Given the description of an element on the screen output the (x, y) to click on. 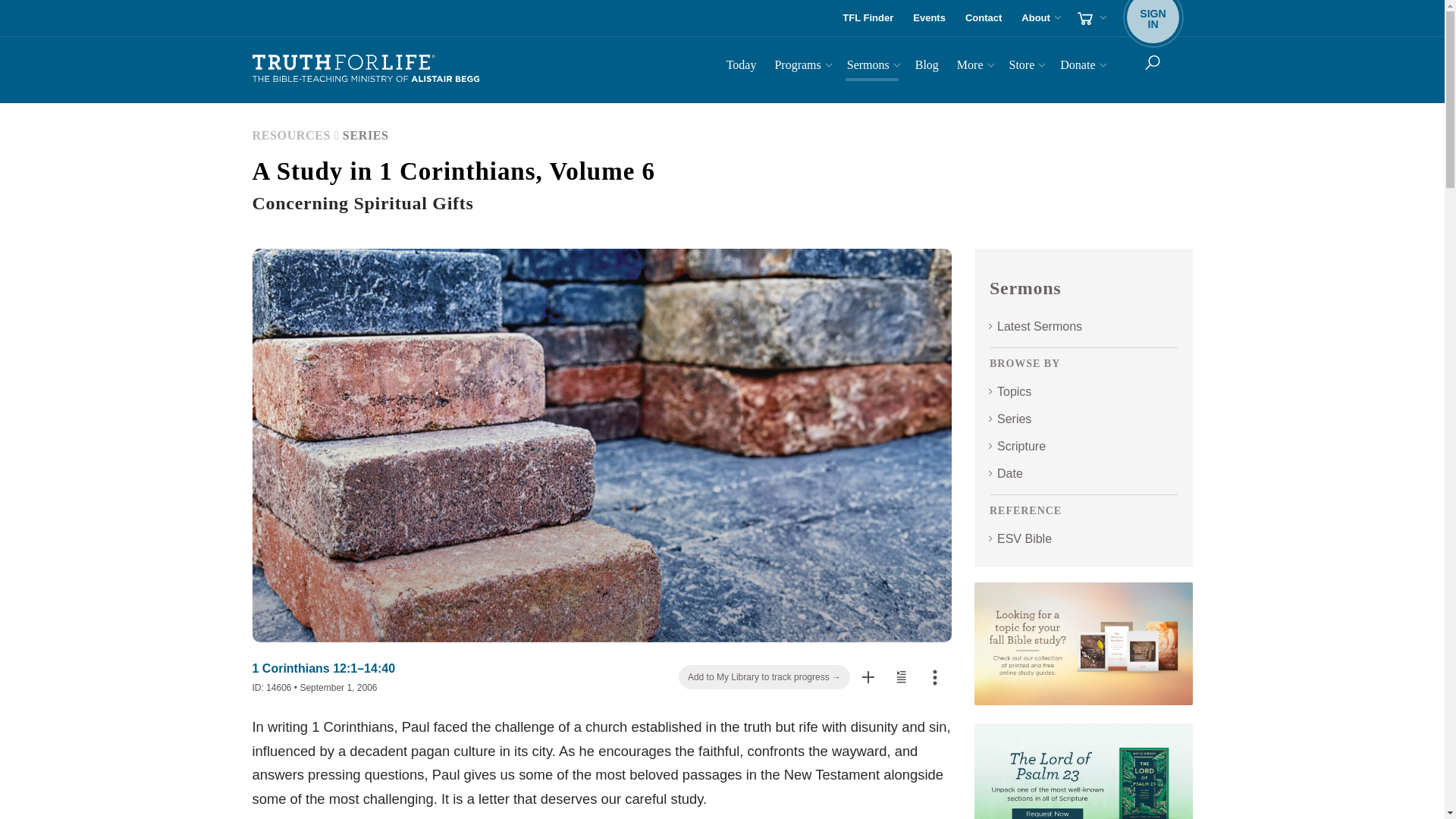
Contact (983, 18)
About (1039, 18)
More Options (935, 676)
TFL Finder (867, 18)
Programs (801, 66)
Listen Queue (901, 676)
Add to My Library (868, 677)
Add to My Library (868, 676)
Truth For Life (365, 68)
